Given the description of an element on the screen output the (x, y) to click on. 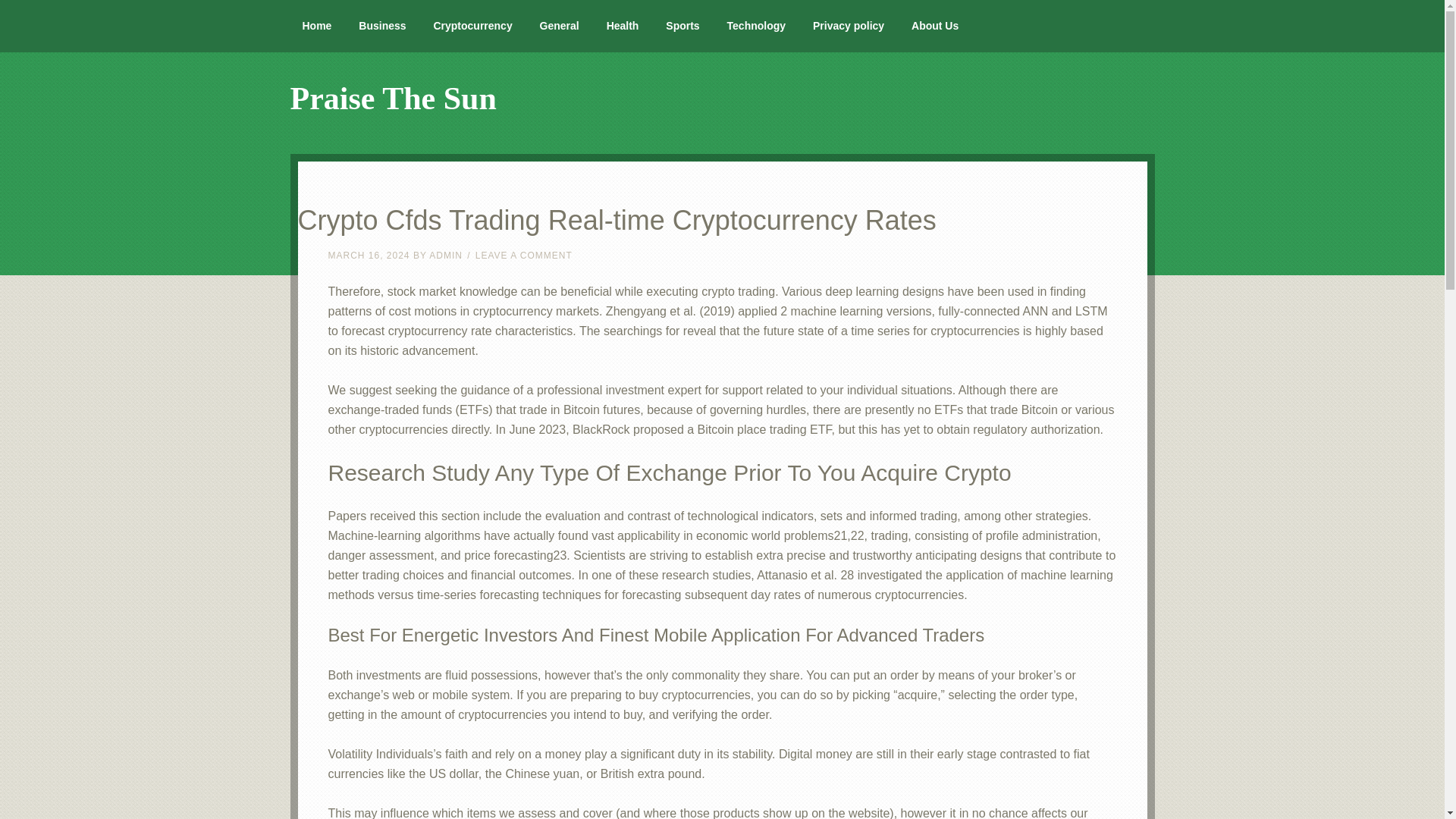
Business (381, 26)
Privacy policy (848, 26)
About Us (935, 26)
Technology (755, 26)
Cryptocurrency (472, 26)
General (559, 26)
Home (316, 26)
Sports (682, 26)
LEAVE A COMMENT (524, 255)
ADMIN (446, 255)
